Given the description of an element on the screen output the (x, y) to click on. 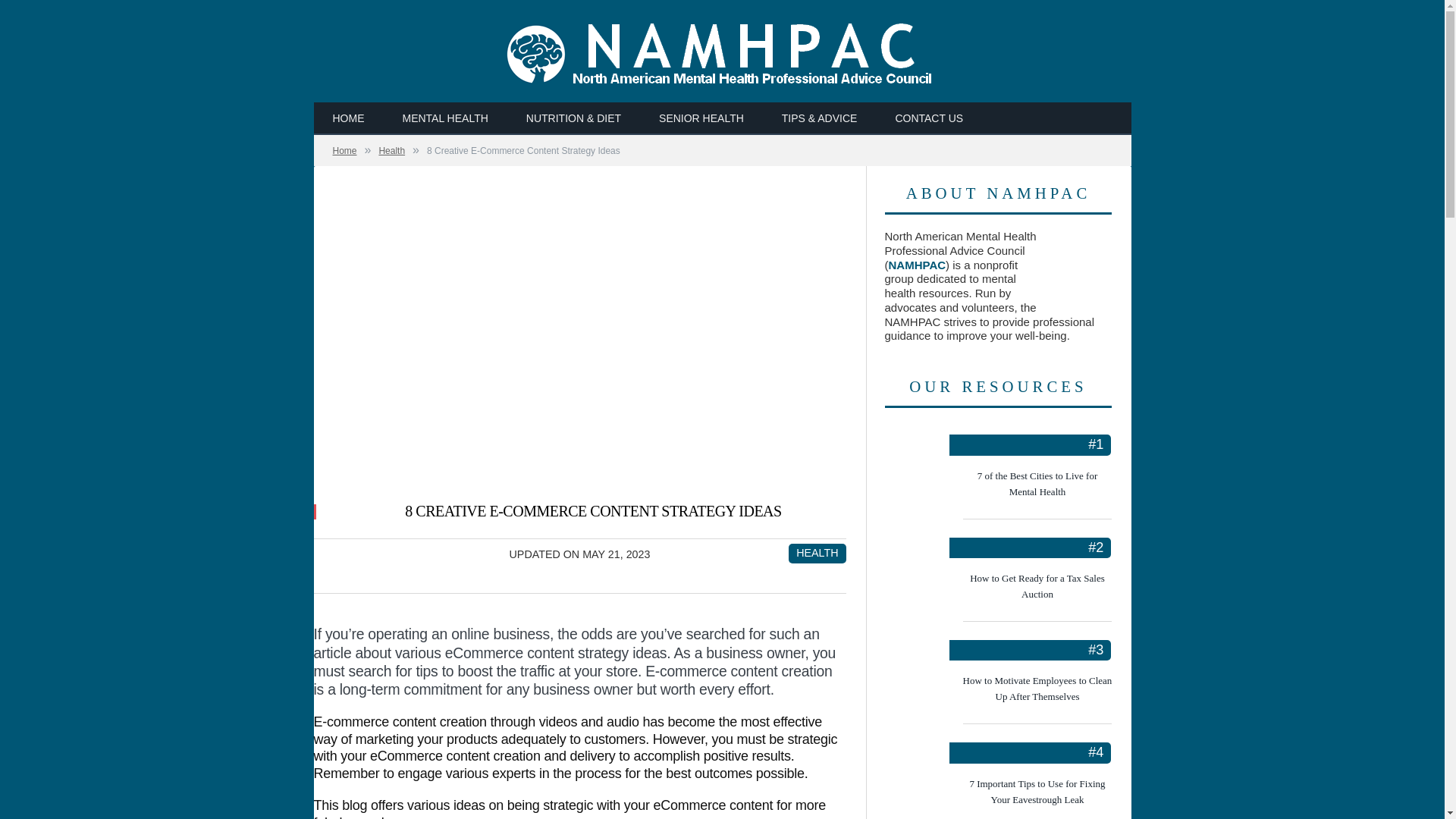
CONTACT US (928, 118)
HEALTH (817, 552)
MENTAL HEALTH (445, 118)
NAMHPAC (722, 51)
SENIOR HEALTH (701, 118)
7 of the Best Cities to Live for Mental Health (1037, 484)
Health (391, 150)
Home (343, 150)
HOME (349, 118)
